Given the description of an element on the screen output the (x, y) to click on. 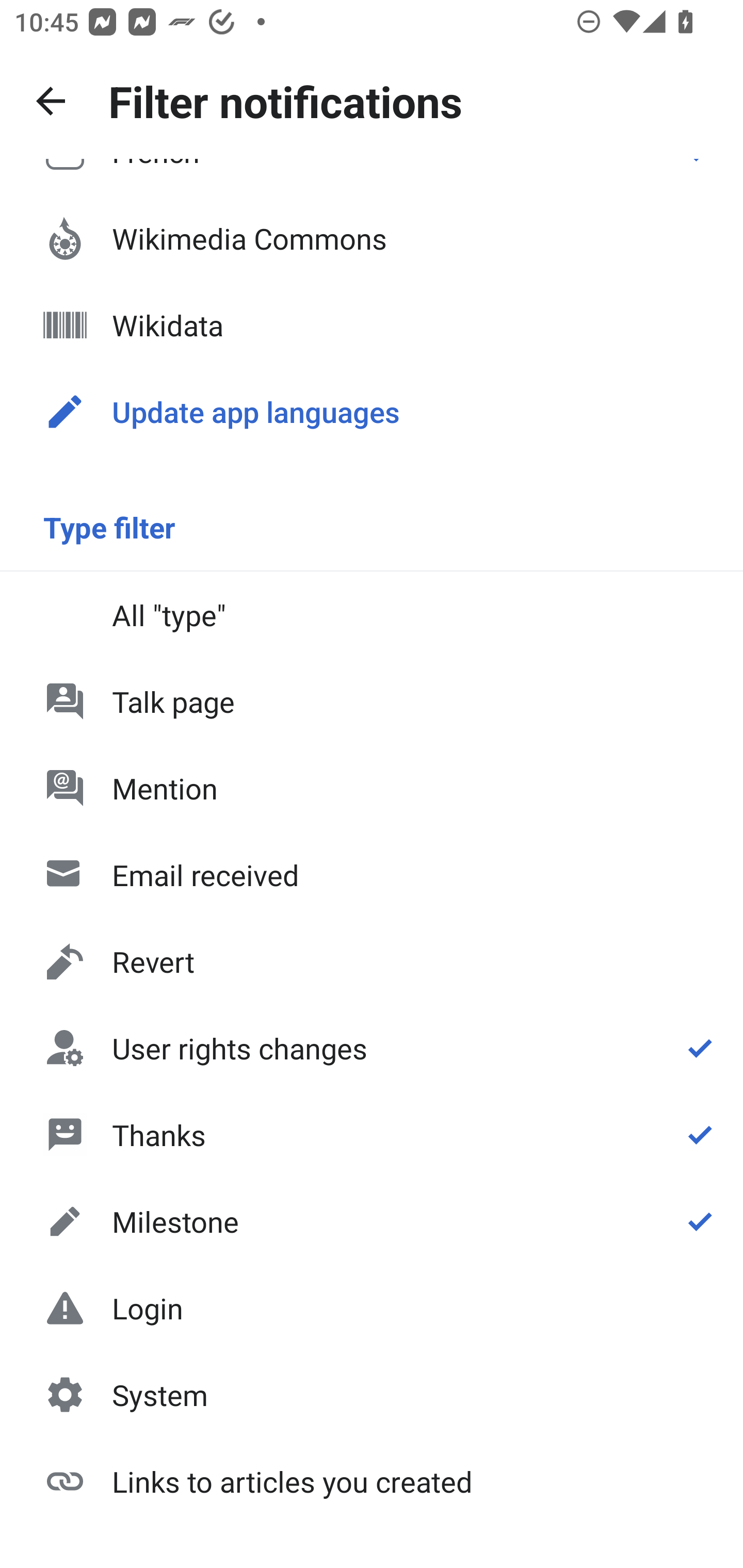
Navigate up (50, 101)
Wikimedia Commons (371, 238)
Wikidata (371, 325)
Update app languages (371, 411)
All "type" (371, 614)
Talk page (371, 701)
Mention (371, 787)
Email received (371, 874)
Revert (371, 961)
User rights changes (371, 1048)
Thanks (371, 1134)
Milestone (371, 1221)
Login (371, 1308)
System (371, 1394)
Links to articles you created (371, 1480)
